Given the description of an element on the screen output the (x, y) to click on. 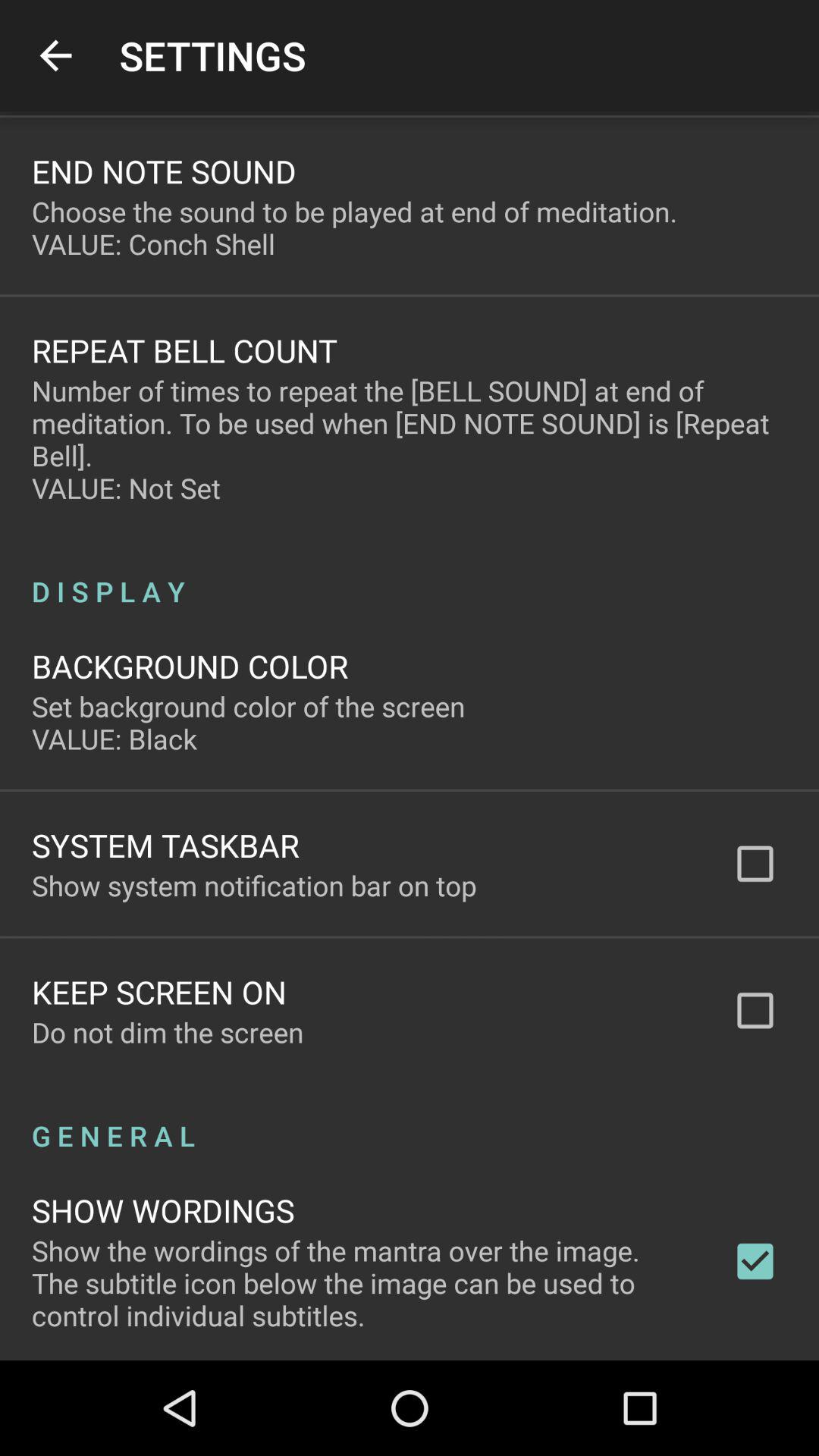
press the icon below repeat bell count item (409, 438)
